Given the description of an element on the screen output the (x, y) to click on. 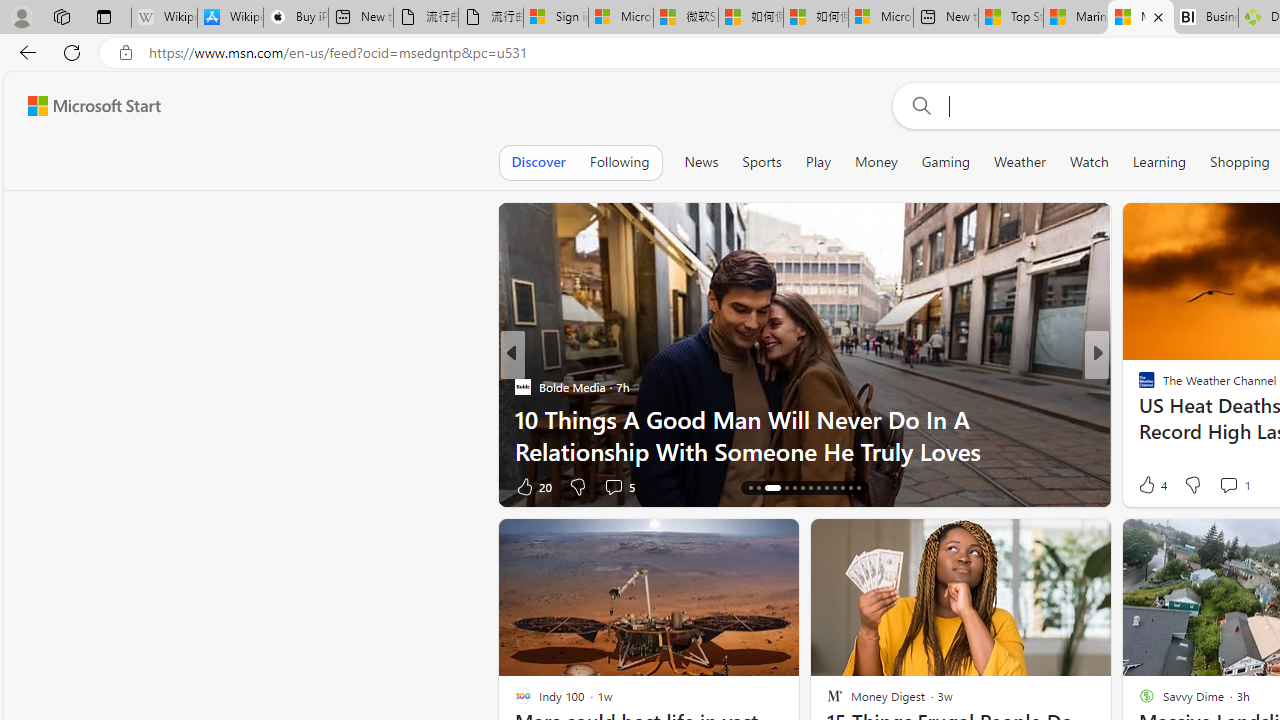
View comments 339 Comment (1247, 486)
AutomationID: tab-22 (825, 487)
Groovy Era (1138, 418)
516 Like (1151, 486)
Top Stories - MSN (1011, 17)
123 Like (1151, 486)
View comments 2 Comment (1229, 485)
BBC (1138, 386)
AutomationID: tab-17 (780, 487)
View comments 1 Comment (1228, 485)
Skip to footer (82, 105)
150 Like (1151, 486)
